Given the description of an element on the screen output the (x, y) to click on. 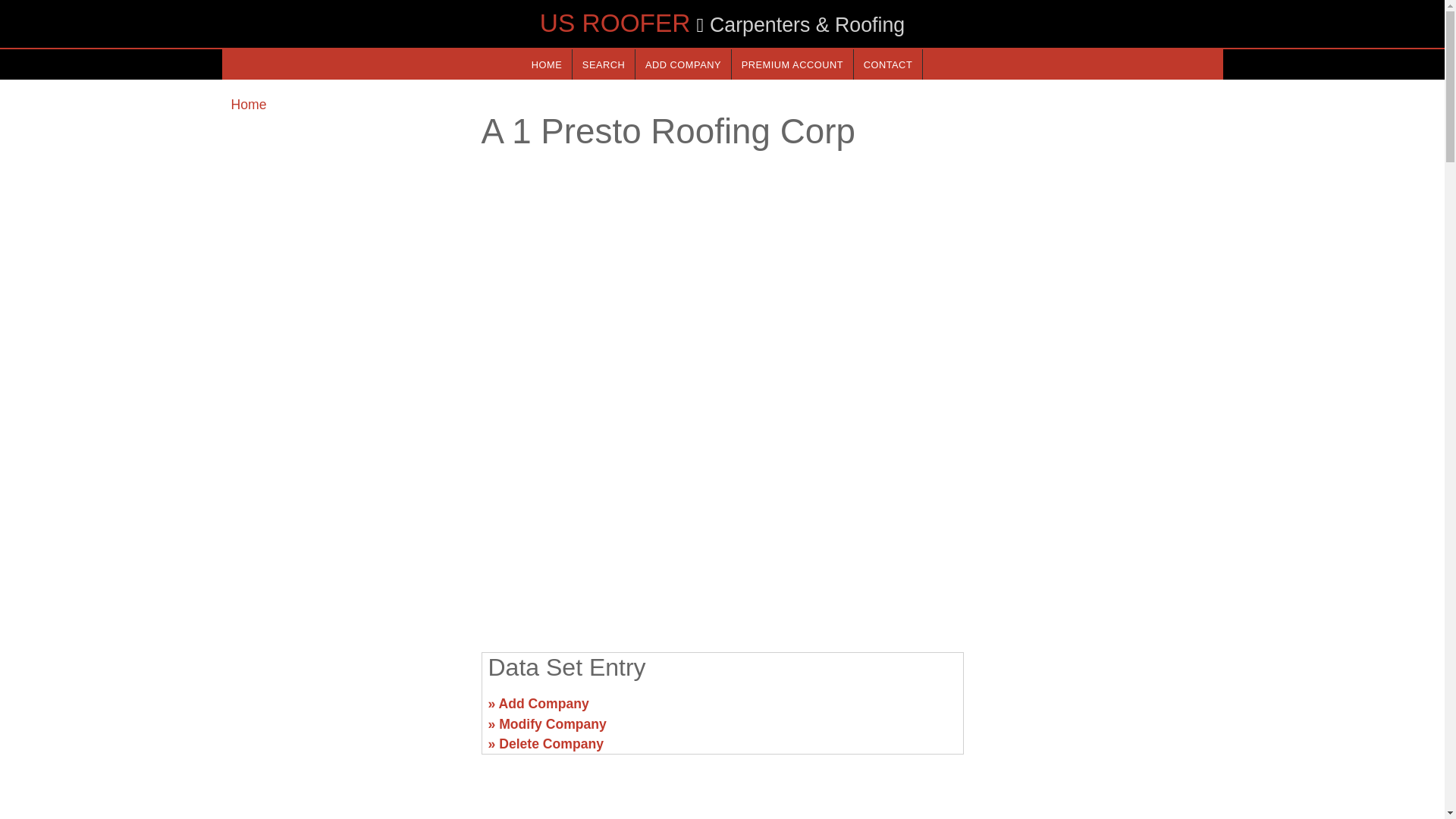
CONTACT (887, 64)
US ROOFER (615, 22)
ADD COMPANY (682, 64)
Advertisement (1096, 710)
Advertisement (721, 522)
Home (248, 104)
Premium account (792, 64)
SEARCH (603, 64)
PREMIUM ACCOUNT (792, 64)
